Given the description of an element on the screen output the (x, y) to click on. 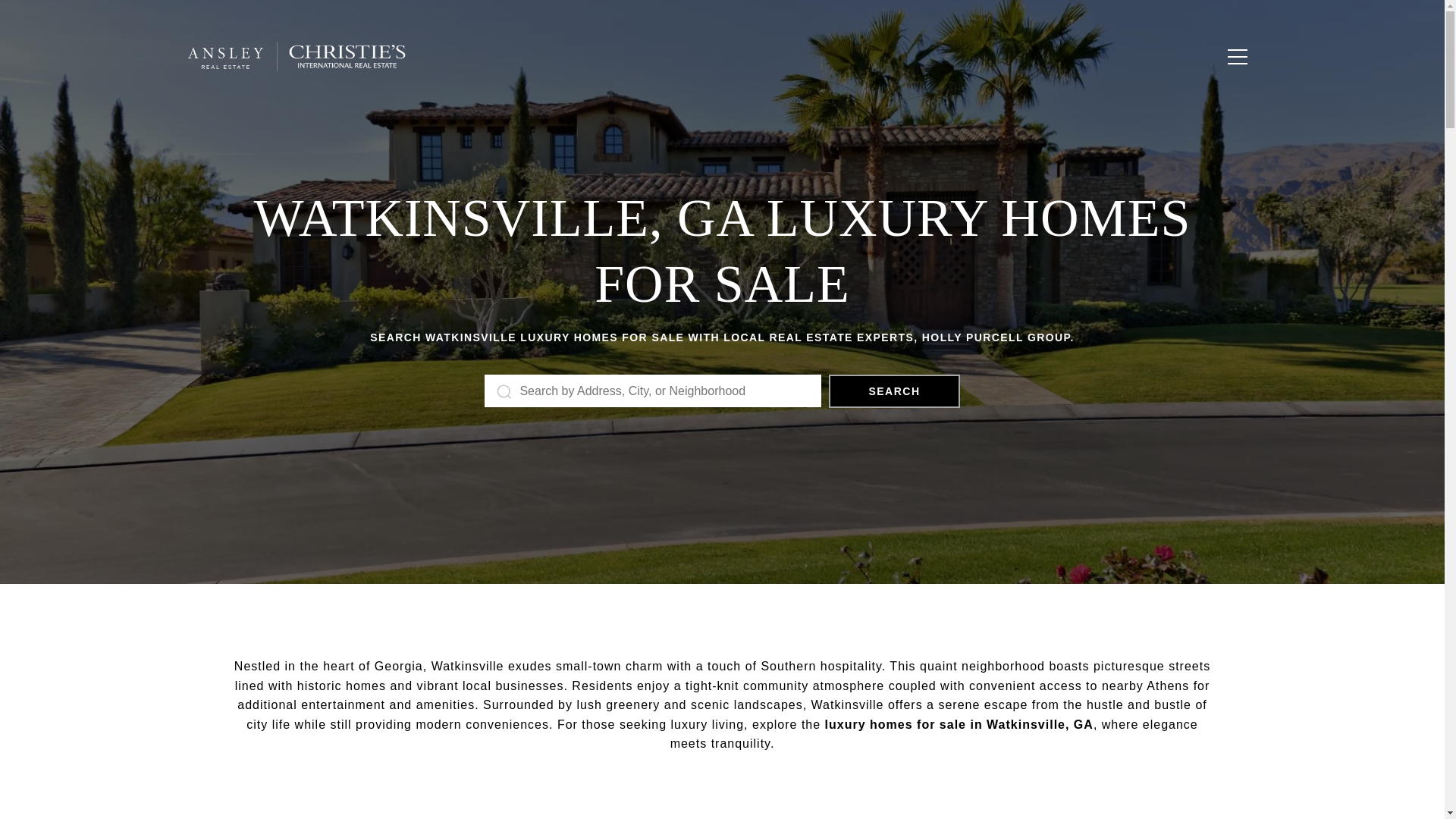
SEARCH (893, 390)
